Given the description of an element on the screen output the (x, y) to click on. 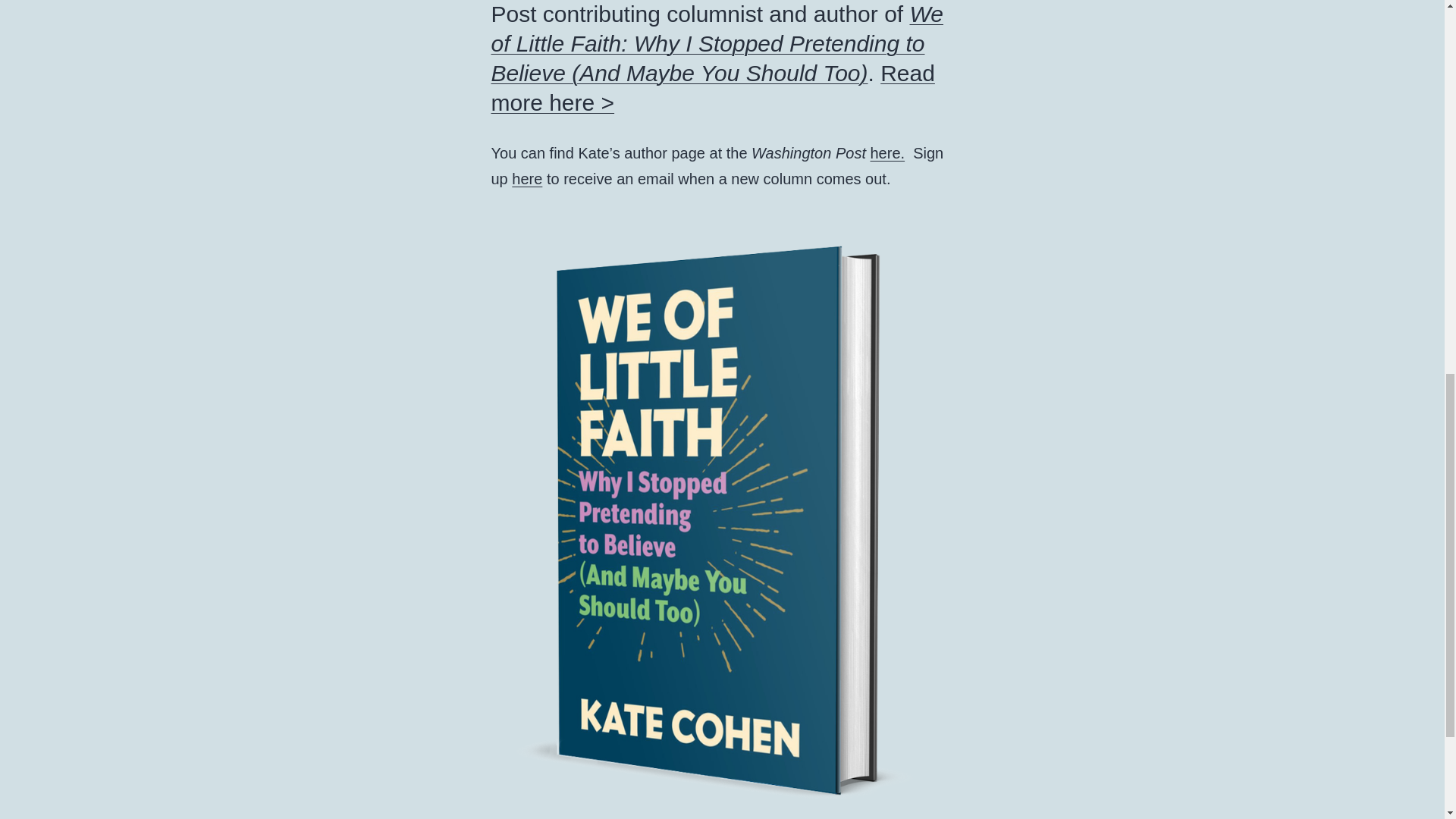
here (526, 178)
here. (887, 152)
